Given the description of an element on the screen output the (x, y) to click on. 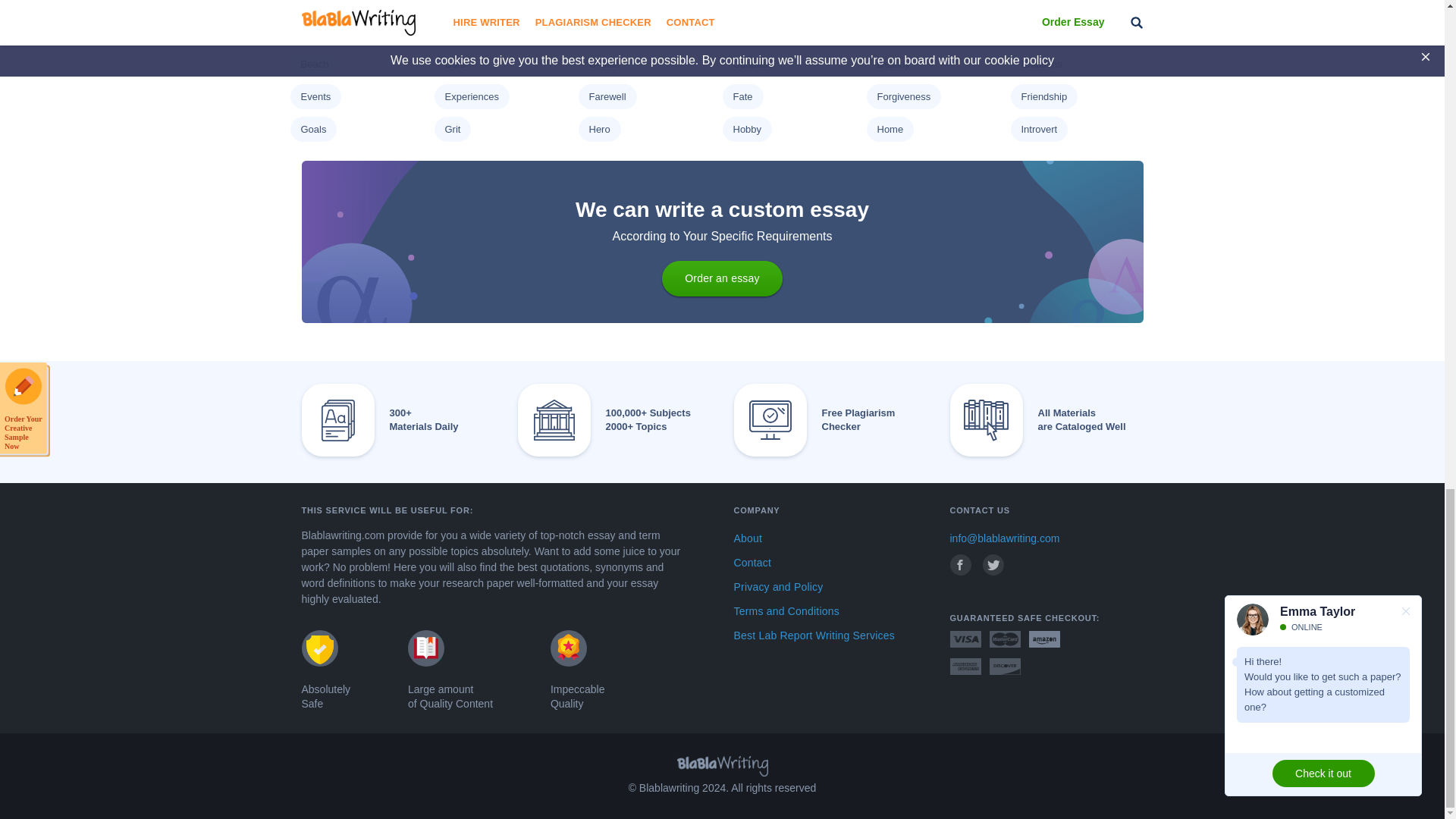
Legacy (1036, 2)
Health Insurance (625, 2)
Heritage (751, 2)
Donation (319, 2)
Investment (900, 2)
Forecasting (470, 2)
Loans (312, 30)
